Given the description of an element on the screen output the (x, y) to click on. 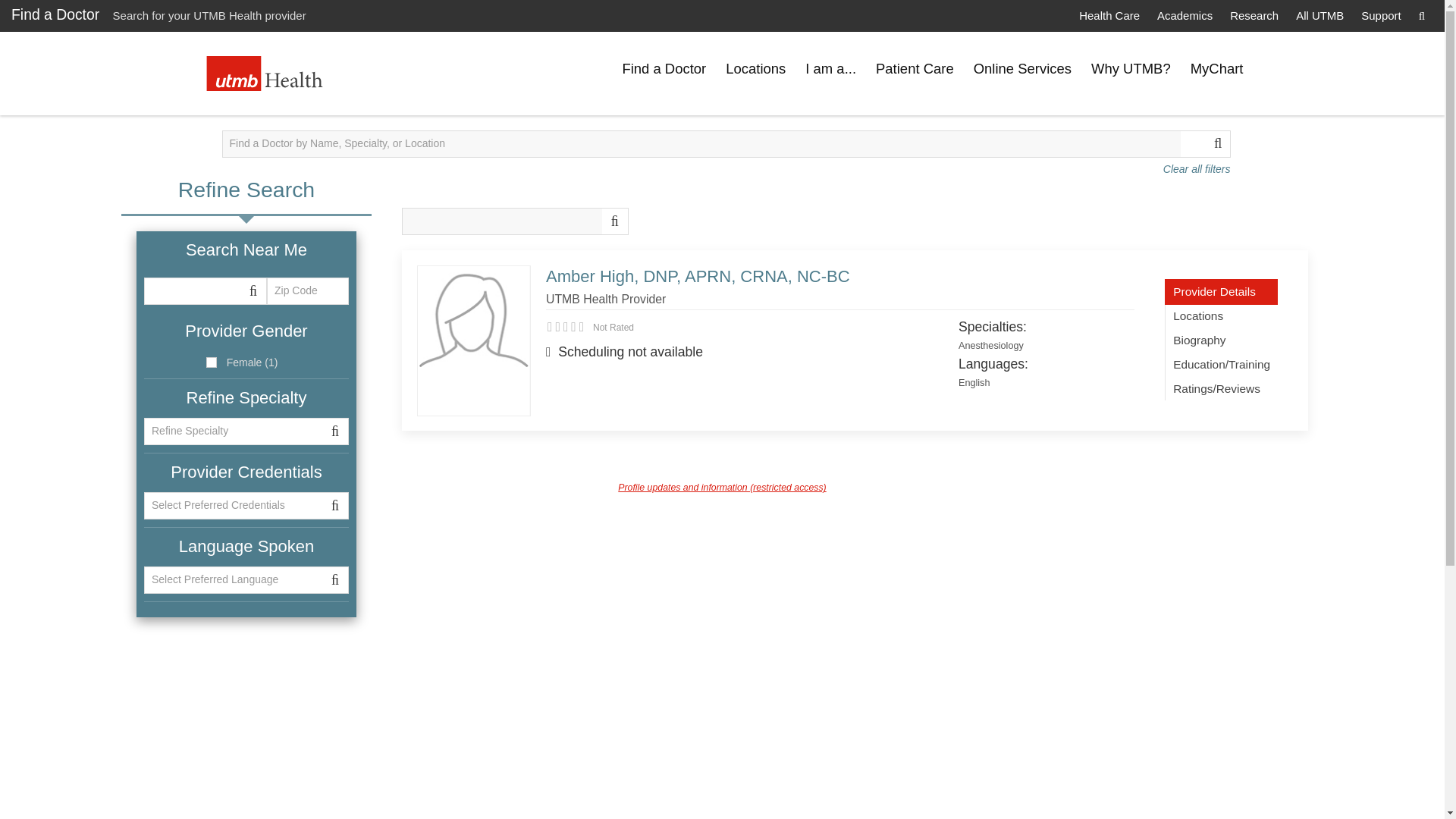
Biography (1221, 339)
Provider Details (1221, 291)
Find a Doctor (55, 14)
I am a... (830, 68)
Anesthesiology (990, 345)
Online Services (1022, 68)
All UTMB (1319, 15)
Locations (1221, 315)
Provider Specialty and Details (1221, 291)
MyChart (1216, 68)
Search (1420, 15)
Why UTMB? (1130, 68)
Support (1380, 15)
Health Care (1109, 15)
Academics (1184, 15)
